Given the description of an element on the screen output the (x, y) to click on. 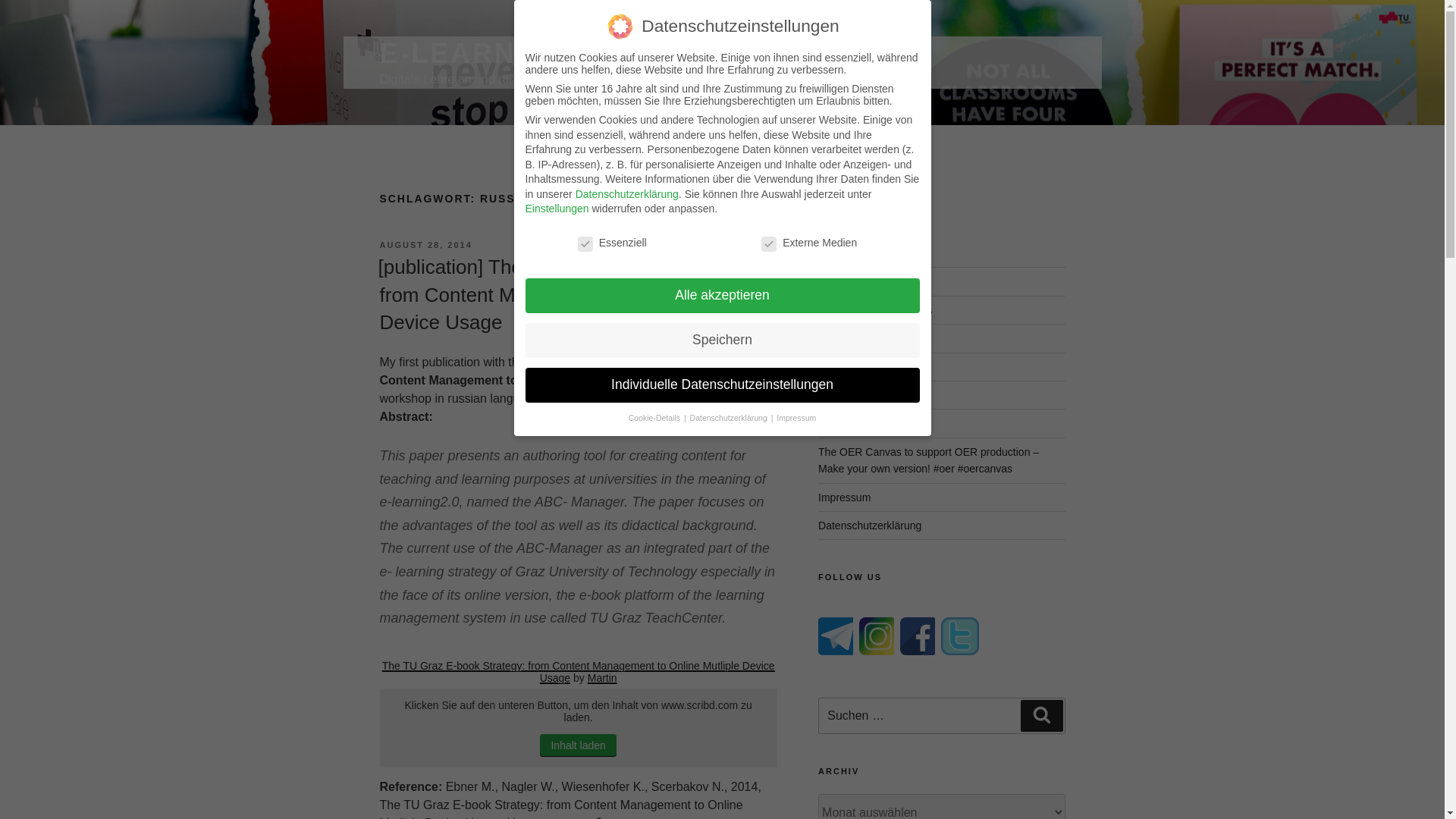
Publikationen (850, 281)
Suchen (1041, 716)
Impressum (844, 497)
Inhalt laden (577, 744)
Martin (602, 677)
E-LEARNING BLOG (523, 52)
Dissertationen (852, 395)
Masterarbeiten (853, 367)
View Martin's profile on Scribd (602, 677)
AUGUST 28, 2014 (424, 244)
Bachelorarbeiten (858, 337)
